Given the description of an element on the screen output the (x, y) to click on. 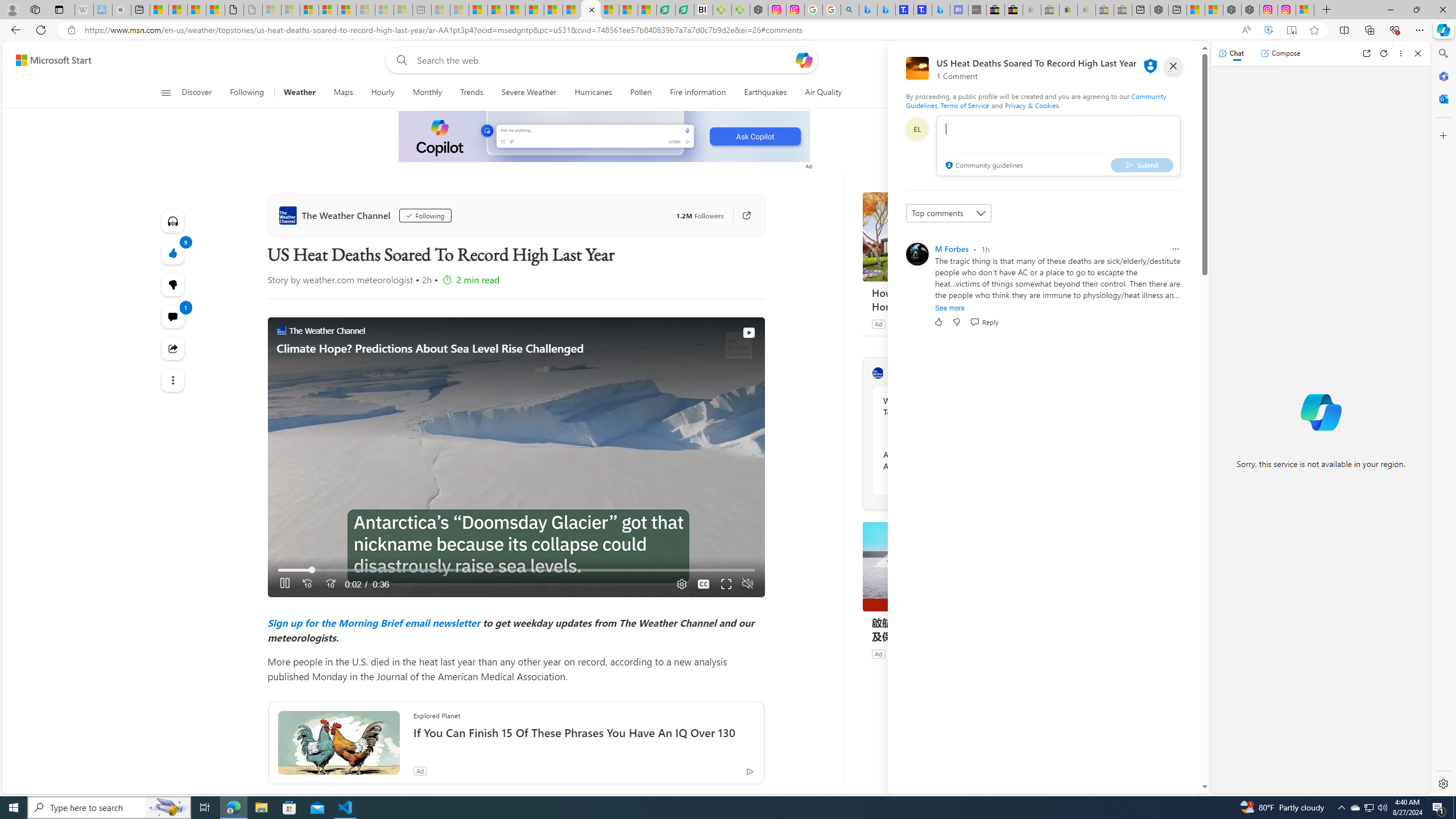
Microsoft Bing Travel - Stays in Bangkok, Bangkok, Thailand (885, 9)
Monthly (427, 92)
Hurricanes (592, 92)
Shangri-La Bangkok, Hotel reviews and Room rates (922, 9)
Profile Picture (916, 254)
Share this story (172, 348)
